Given the description of an element on the screen output the (x, y) to click on. 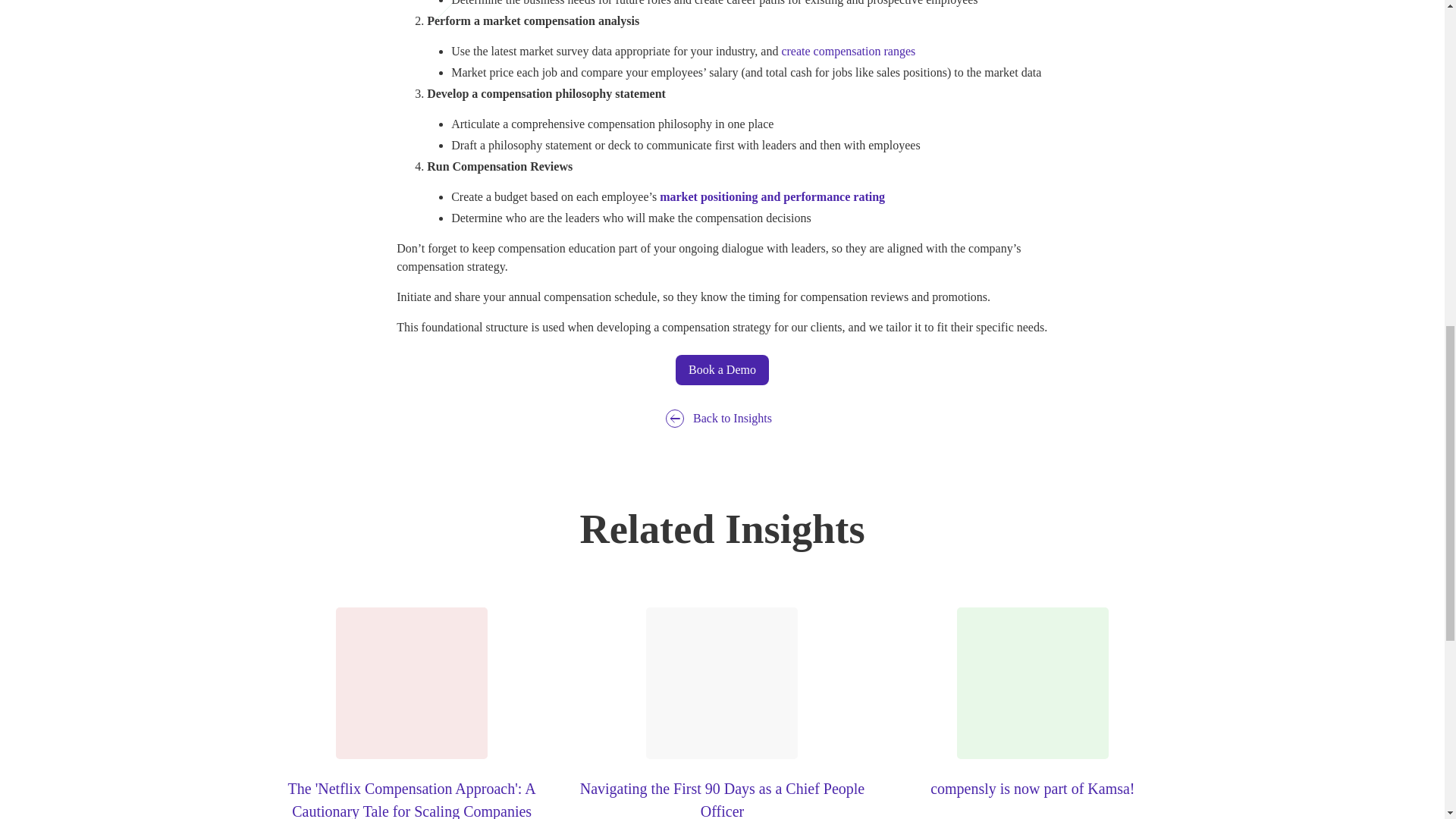
compensly is now part of Kamsa! (1031, 703)
create compensation ranges (847, 51)
Navigating the First 90 Days as a Chief People Officer (721, 713)
Back to Insights (722, 418)
market positioning and performance rating (772, 196)
Book a Demo (721, 369)
